Given the description of an element on the screen output the (x, y) to click on. 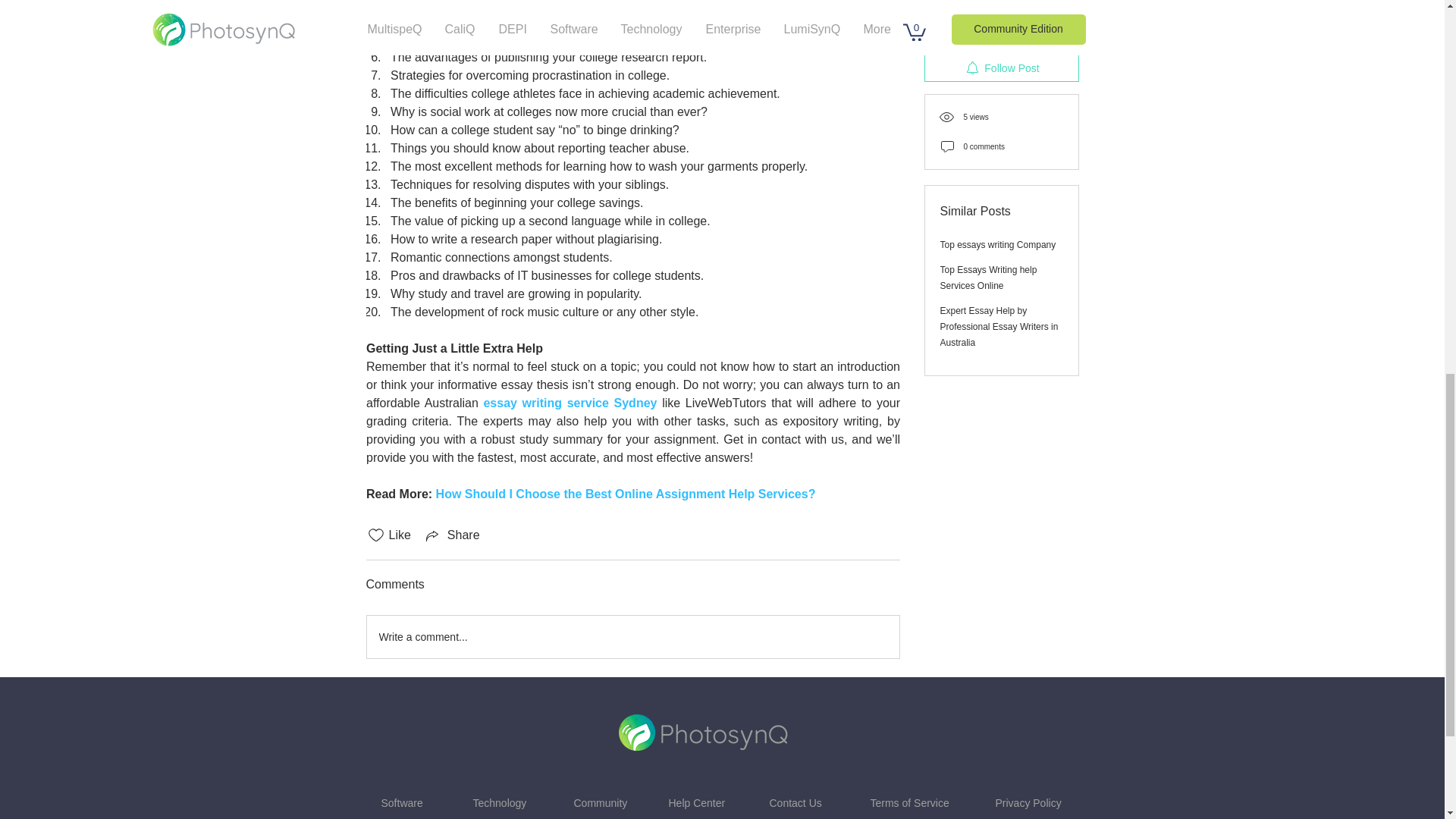
Technology (500, 802)
essay writing service Sydney (569, 402)
Community (600, 802)
Write a comment... (632, 636)
Help Center (696, 802)
Share (451, 535)
Contact Us (794, 802)
Terms of Service (909, 802)
Software (401, 802)
